Given the description of an element on the screen output the (x, y) to click on. 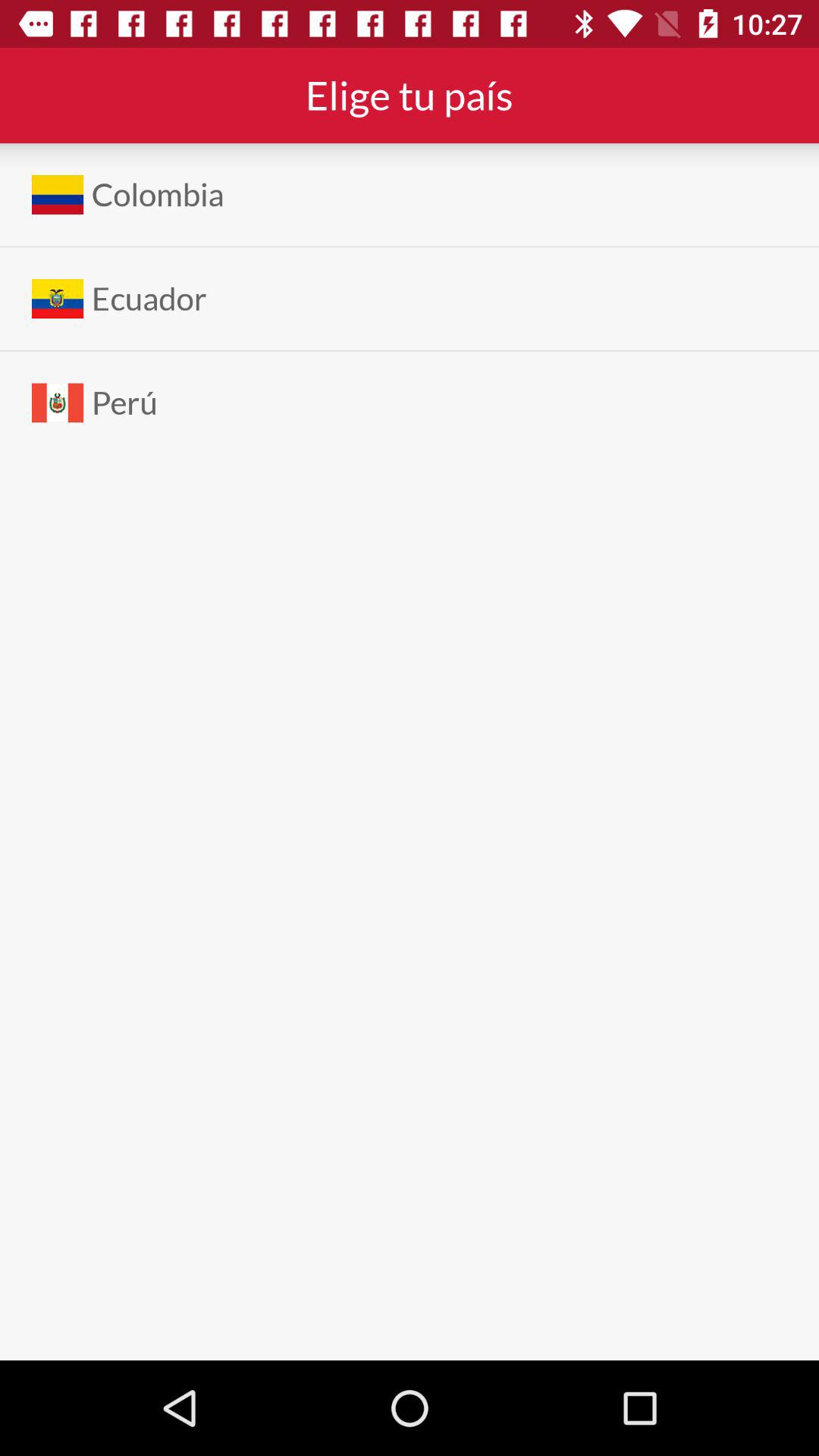
launch the ecuador item (149, 298)
